Given the description of an element on the screen output the (x, y) to click on. 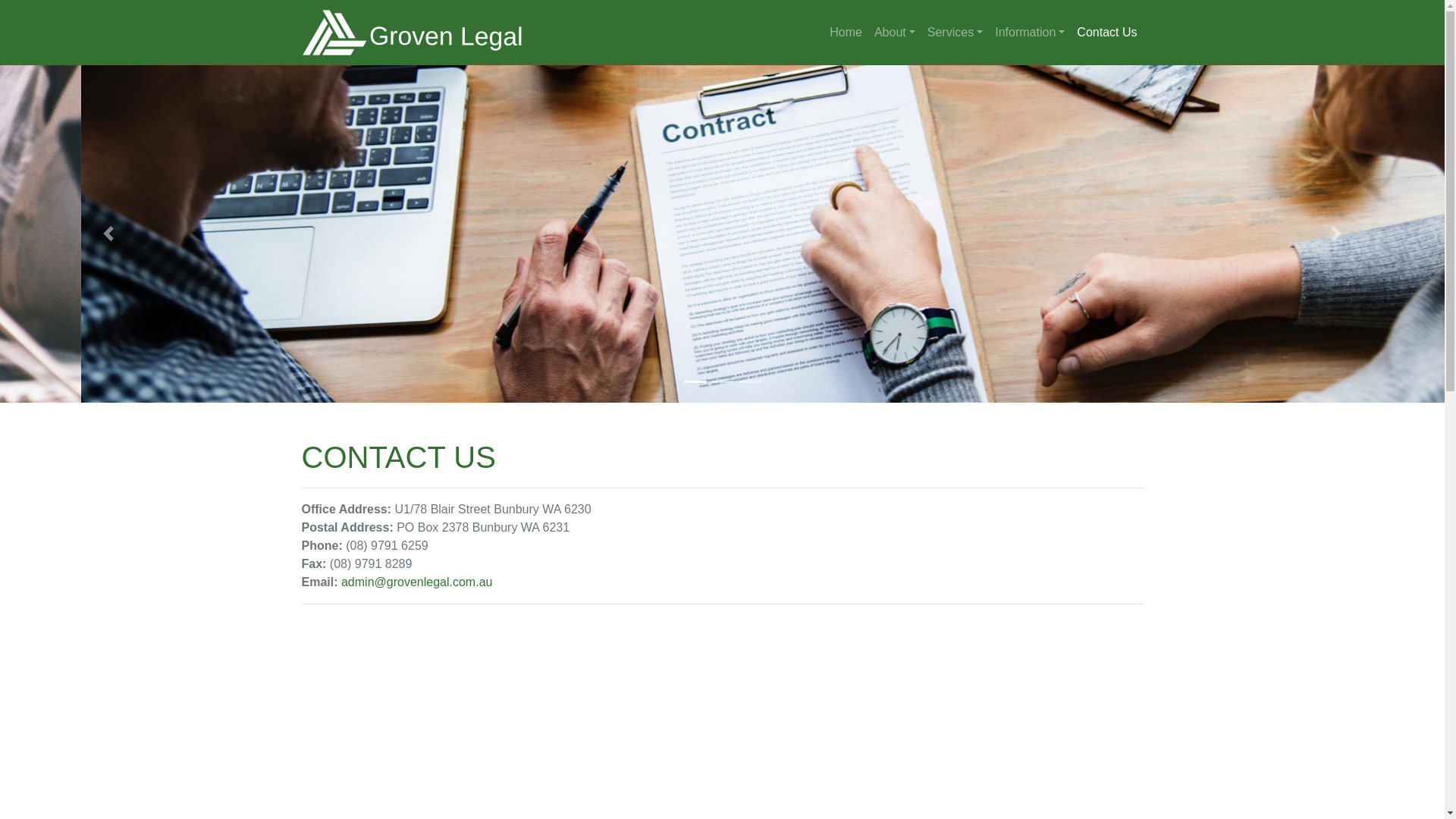
About Element type: text (894, 32)
Information Element type: text (1029, 32)
Previous Element type: text (108, 233)
Home
(current) Element type: text (845, 32)
Next Element type: text (1335, 233)
admin@grovenlegal.com.au Element type: text (416, 581)
Services Element type: text (954, 32)
Contact Us Element type: text (1106, 32)
